Given the description of an element on the screen output the (x, y) to click on. 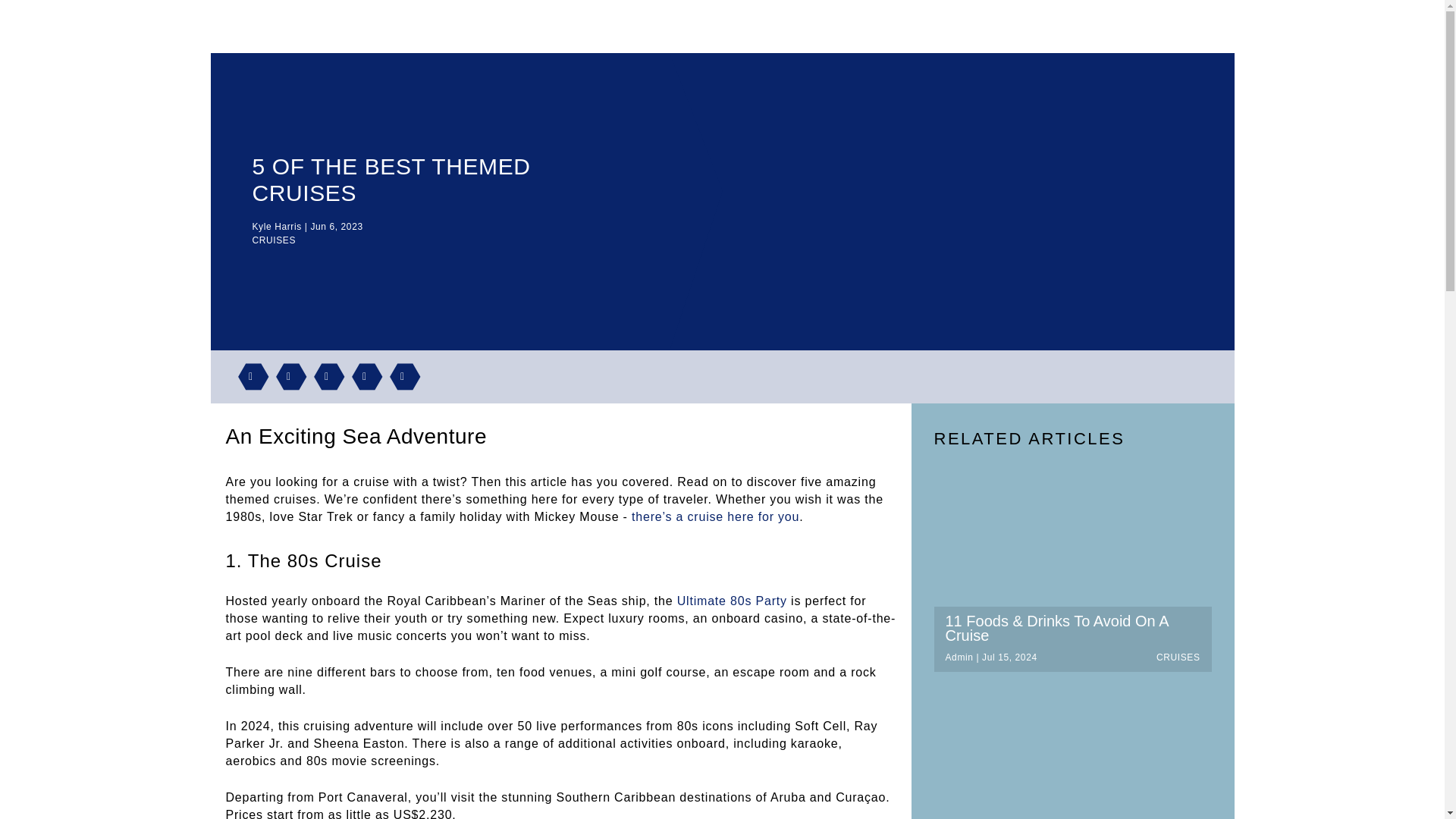
Ultimate 80s Party (732, 600)
Facebook (286, 378)
Search (1165, 26)
Kyle Harris (276, 226)
CRUISES (273, 240)
Close (1235, 17)
Email (361, 378)
Pinterest (247, 378)
Twitter (323, 378)
Bookmark (399, 378)
Menu (1200, 26)
Home (291, 26)
